Given the description of an element on the screen output the (x, y) to click on. 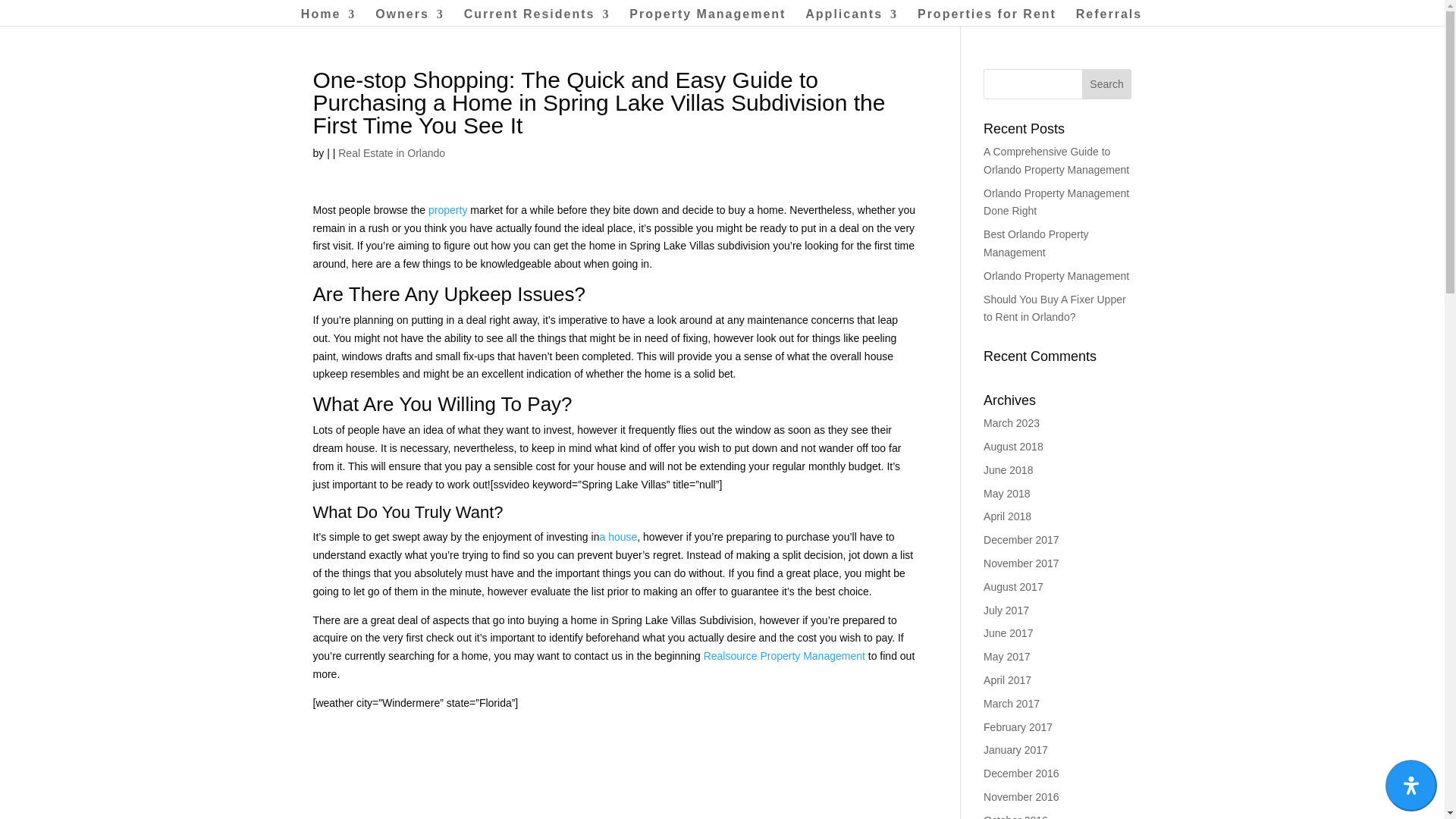
Applicants (851, 17)
Owners (409, 17)
Current Residents (537, 17)
Property Management (707, 17)
Properties for Rent (987, 17)
Search (1106, 83)
Referrals (1108, 17)
Home (328, 17)
